Given the description of an element on the screen output the (x, y) to click on. 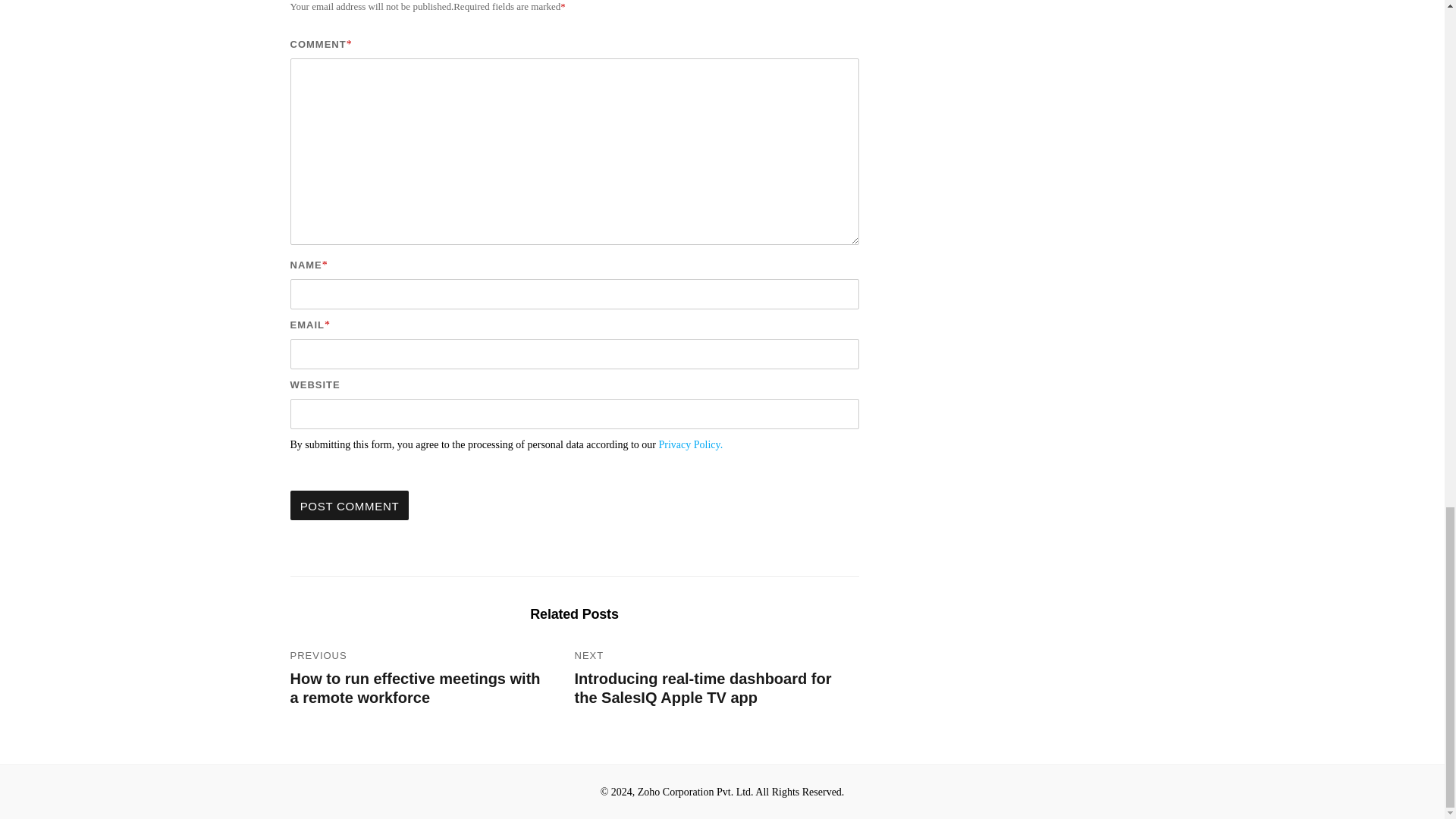
Privacy Policy. (691, 444)
Post Comment (349, 505)
Post Comment (349, 505)
